Given the description of an element on the screen output the (x, y) to click on. 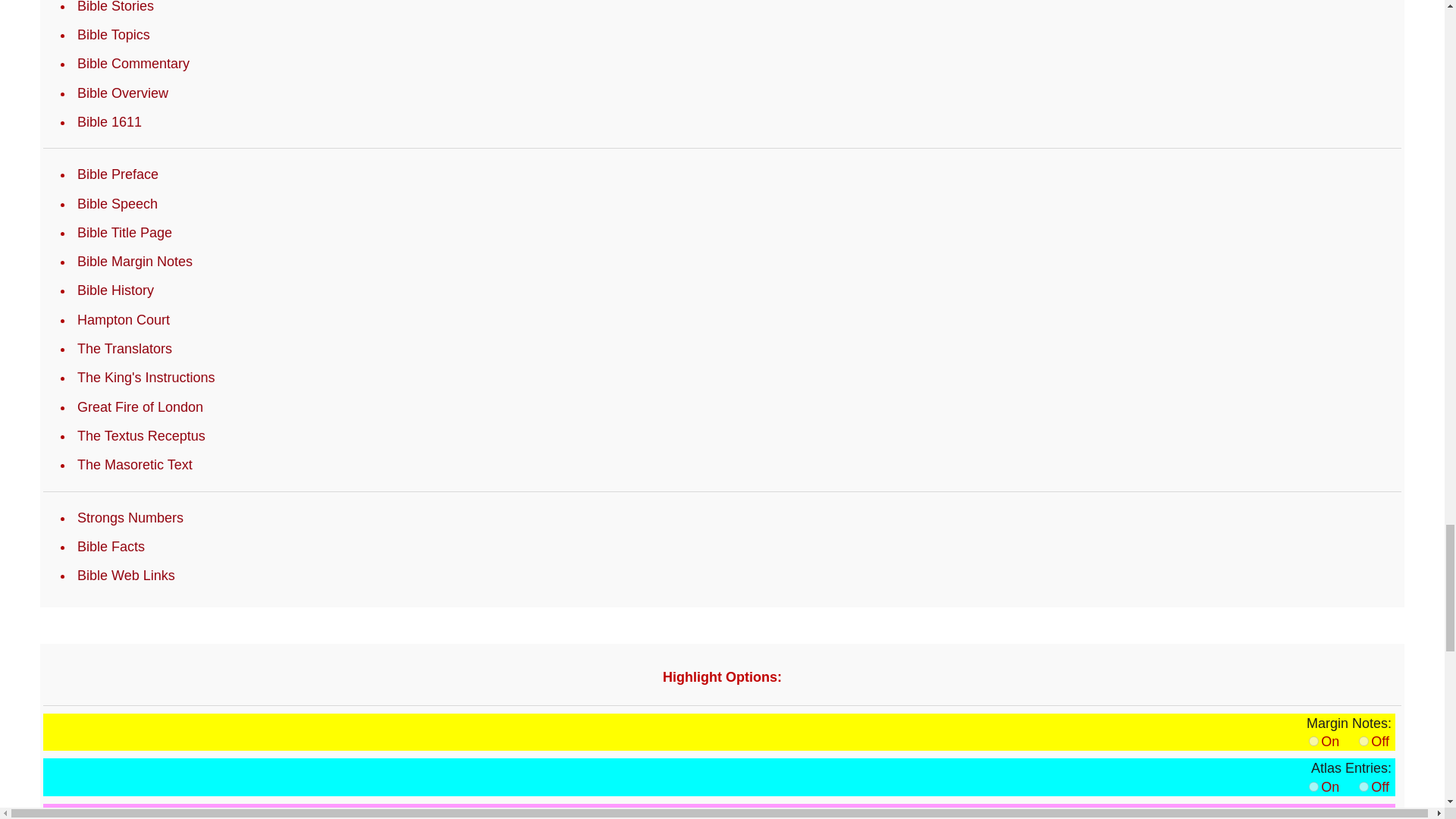
Off (1363, 741)
On (1313, 741)
On (1313, 786)
Off (1363, 786)
